Given the description of an element on the screen output the (x, y) to click on. 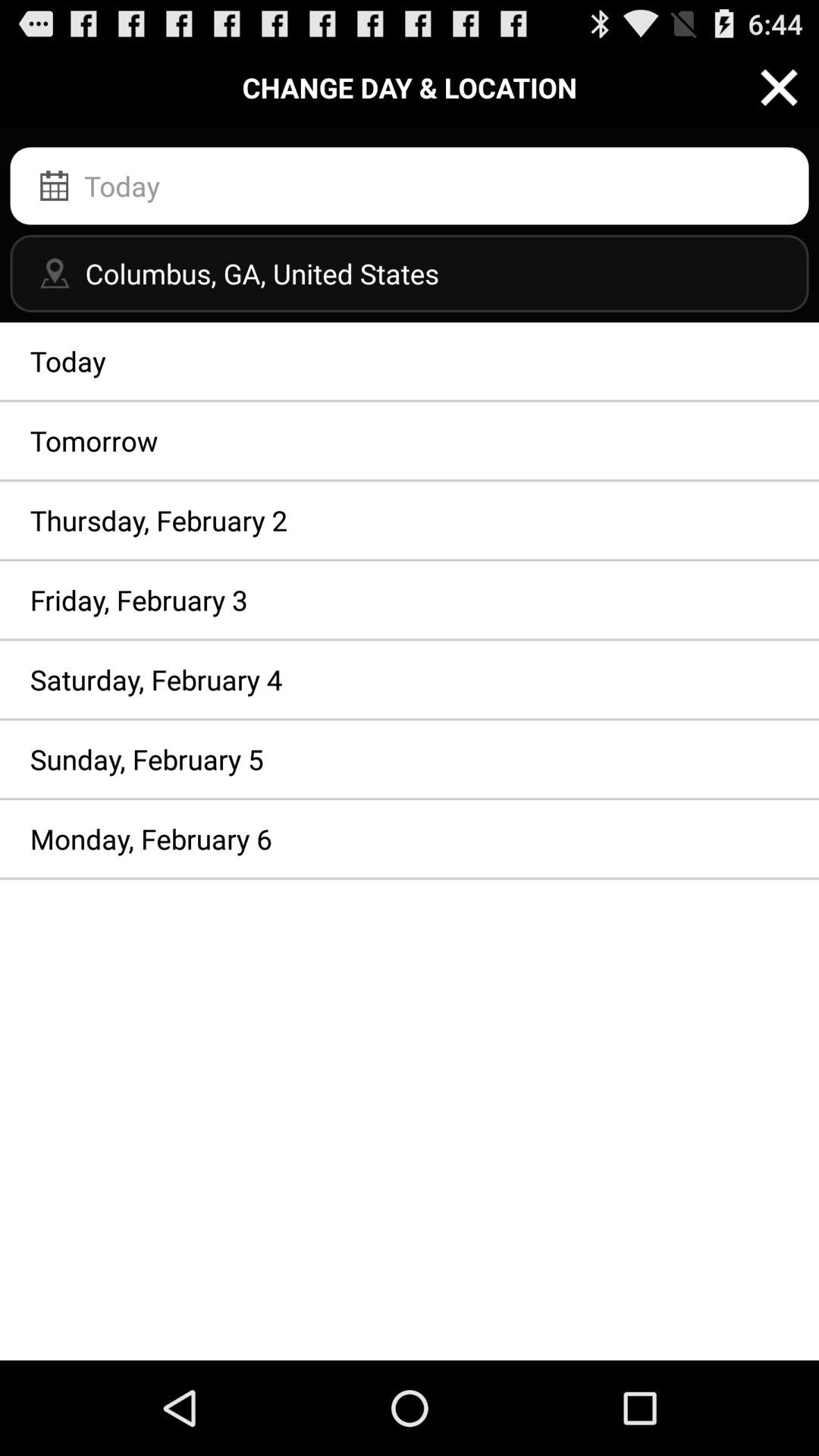
flip until the columbus ga united (409, 273)
